Given the description of an element on the screen output the (x, y) to click on. 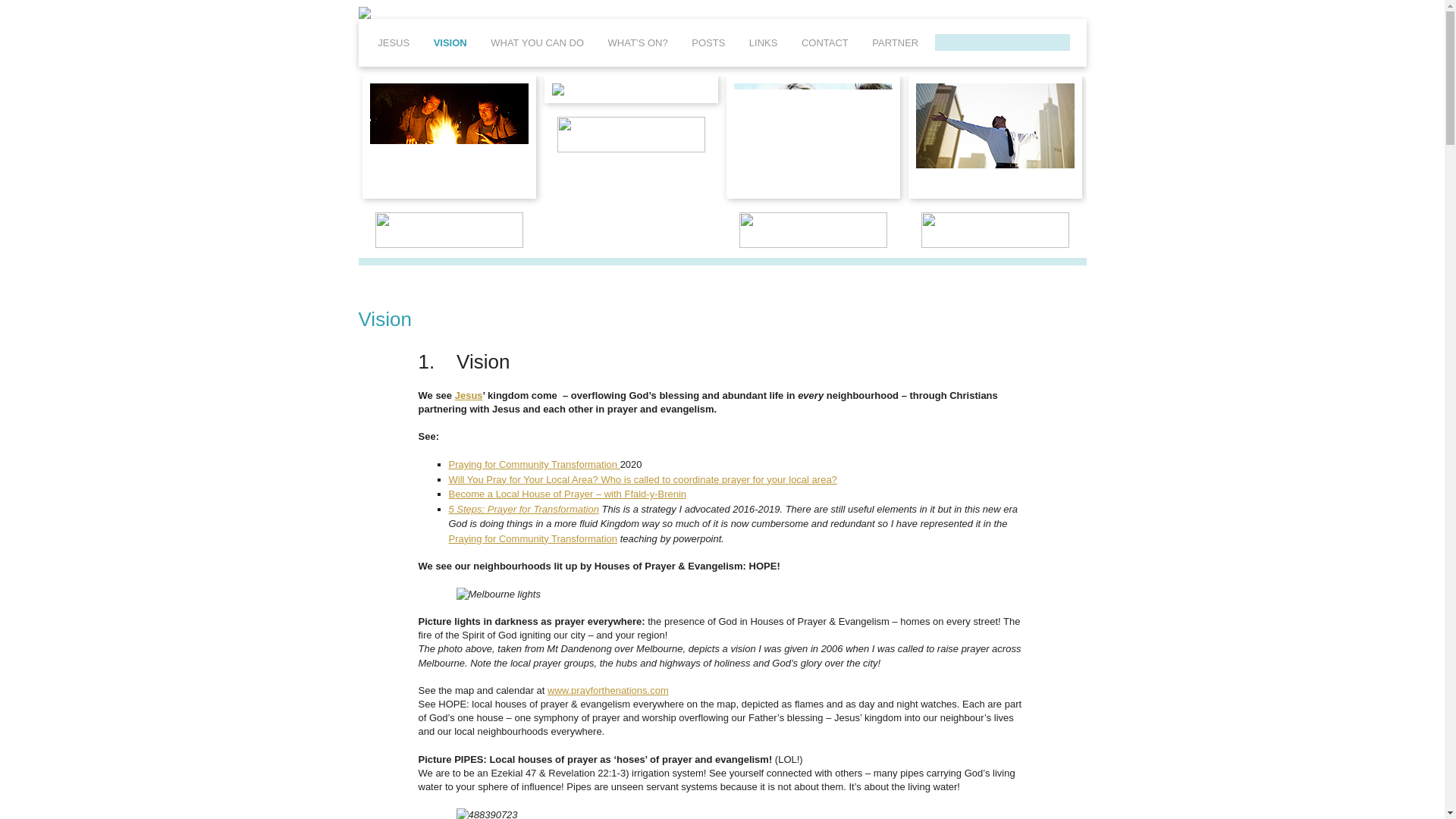
LINKS (762, 42)
5 Steps: Prayer for Transformation (523, 509)
www.prayforthenations.com (607, 690)
Search (21, 7)
Jesus (468, 395)
JESUS (392, 42)
PARTNER (895, 42)
POSTS (707, 42)
WHAT YOU CAN DO (537, 42)
